Given the description of an element on the screen output the (x, y) to click on. 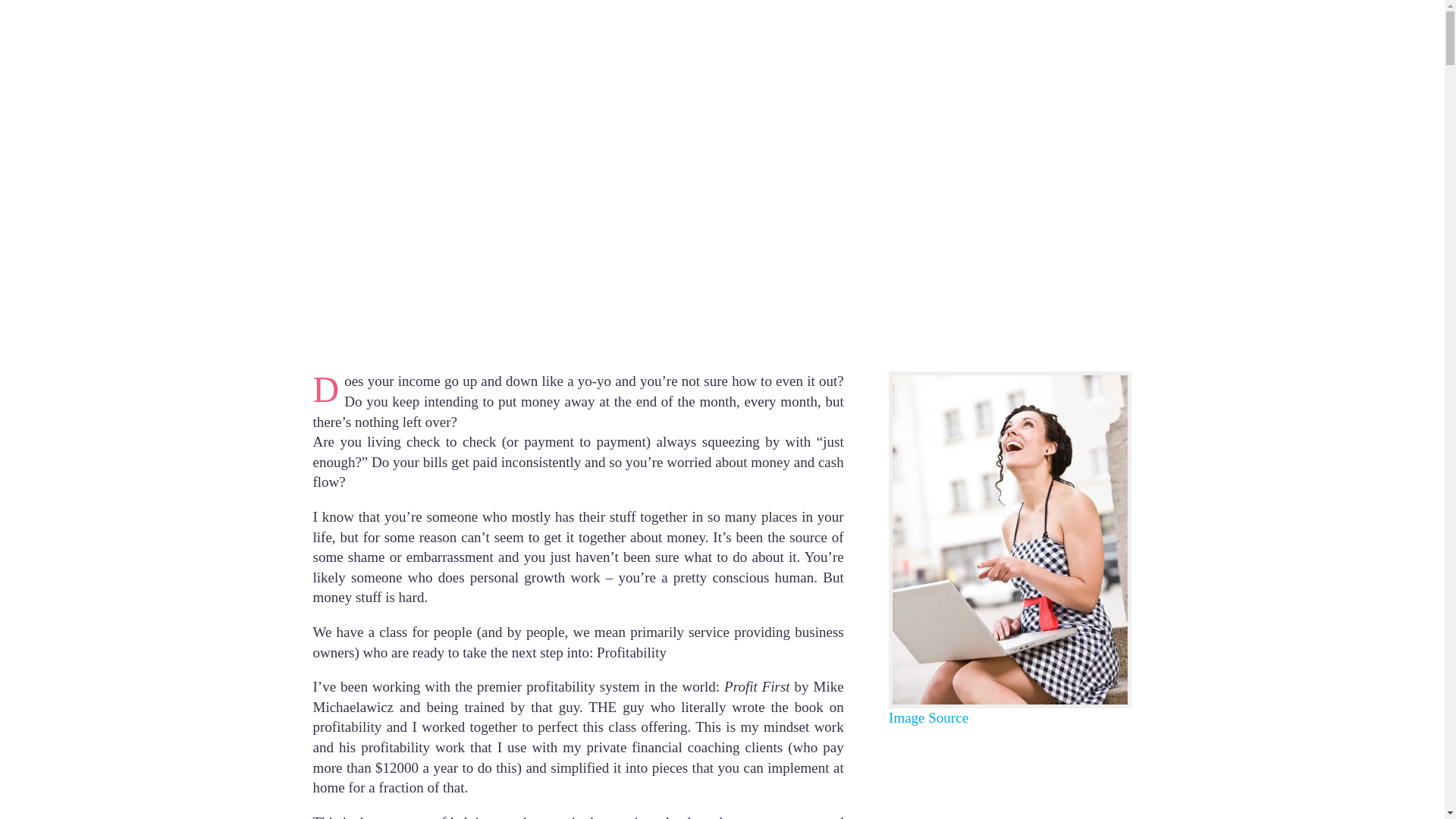
Image Source (928, 717)
Image courtesy of Freepik (928, 717)
